Given the description of an element on the screen output the (x, y) to click on. 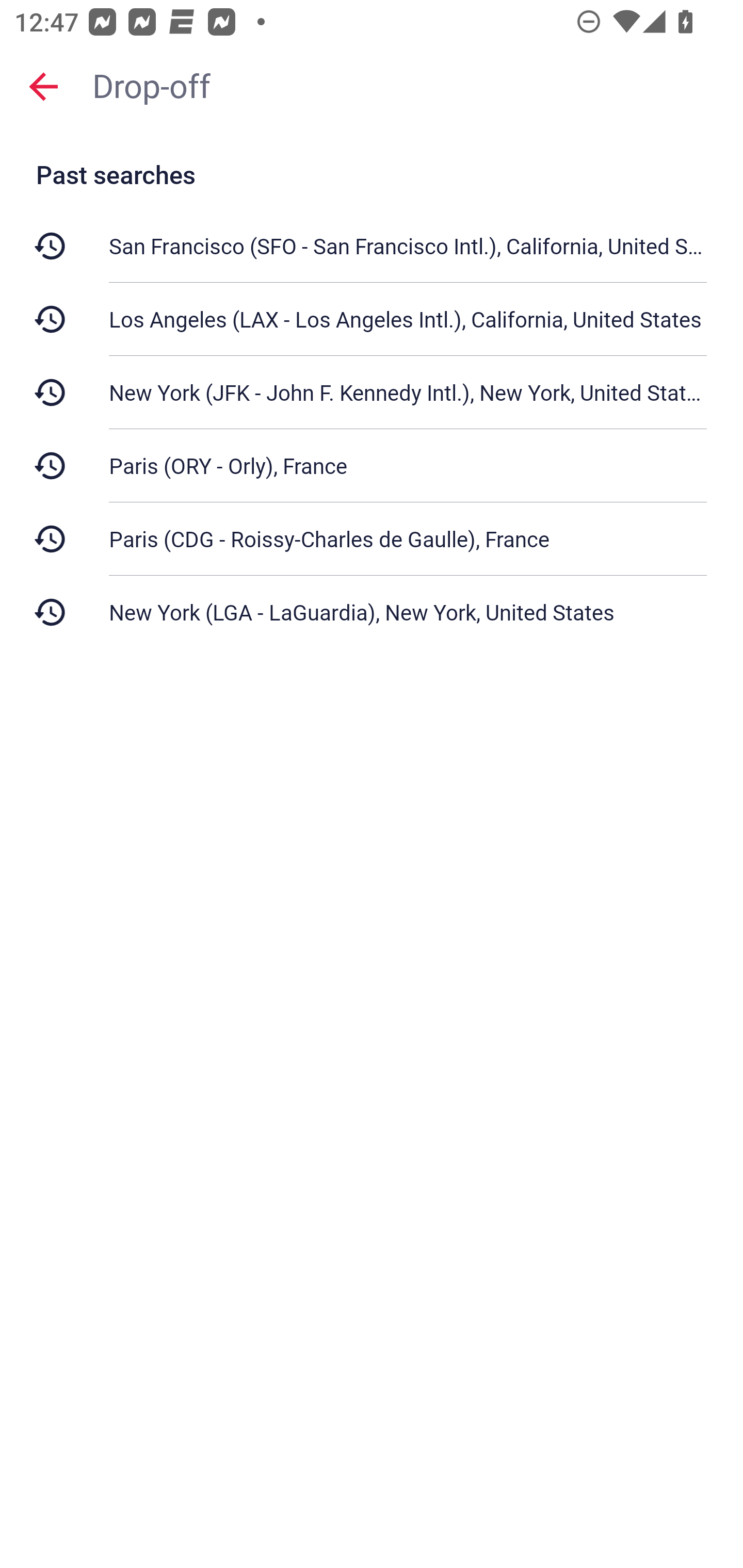
Drop-off,  (407, 85)
Close search screen (43, 86)
